Given the description of an element on the screen output the (x, y) to click on. 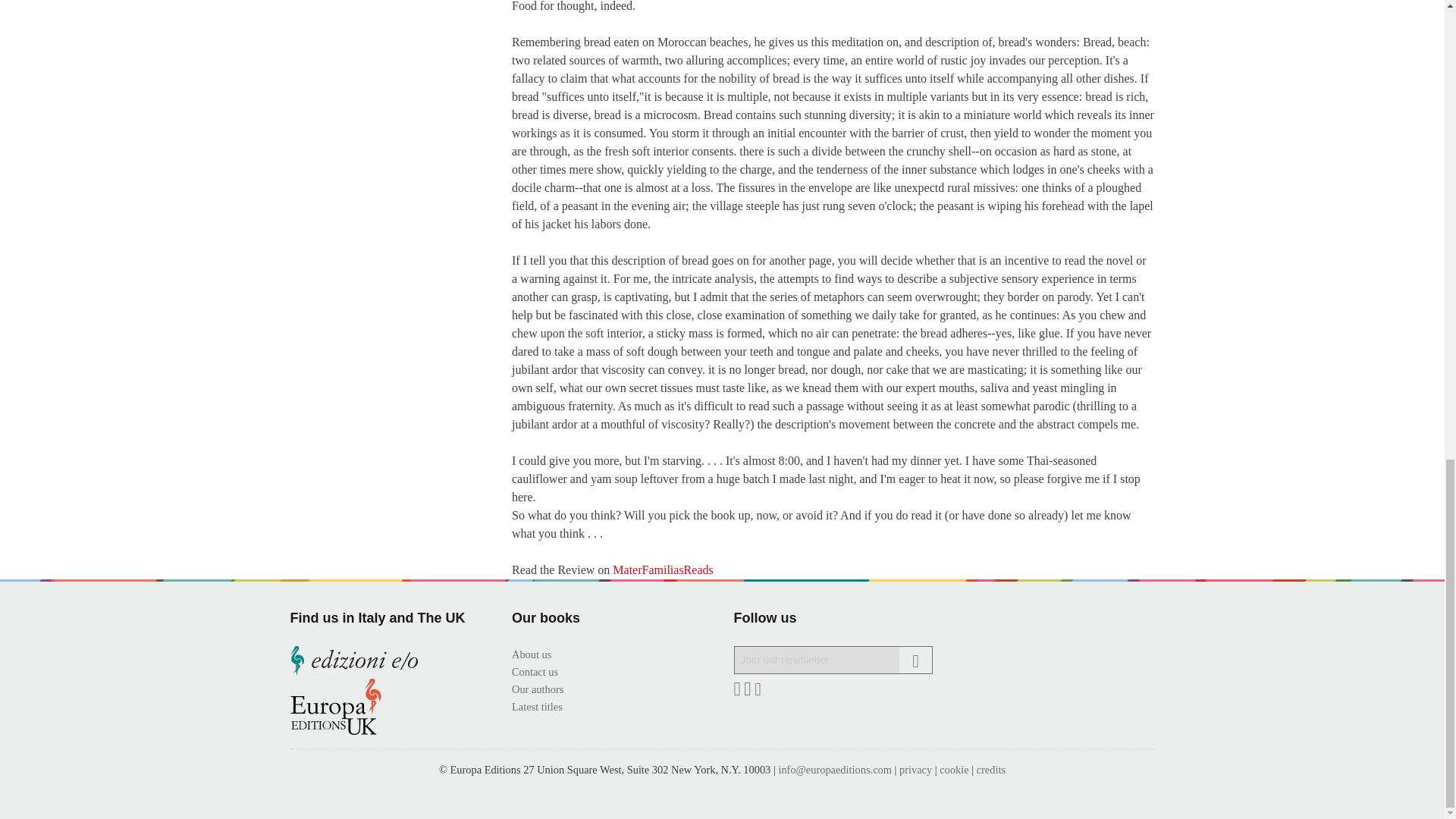
Privacy policy (915, 769)
About us (531, 654)
Our authors (537, 689)
Latest titles (537, 706)
MaterFamiliasReads (662, 569)
Contact us (534, 671)
Cookie policy (953, 769)
